Given the description of an element on the screen output the (x, y) to click on. 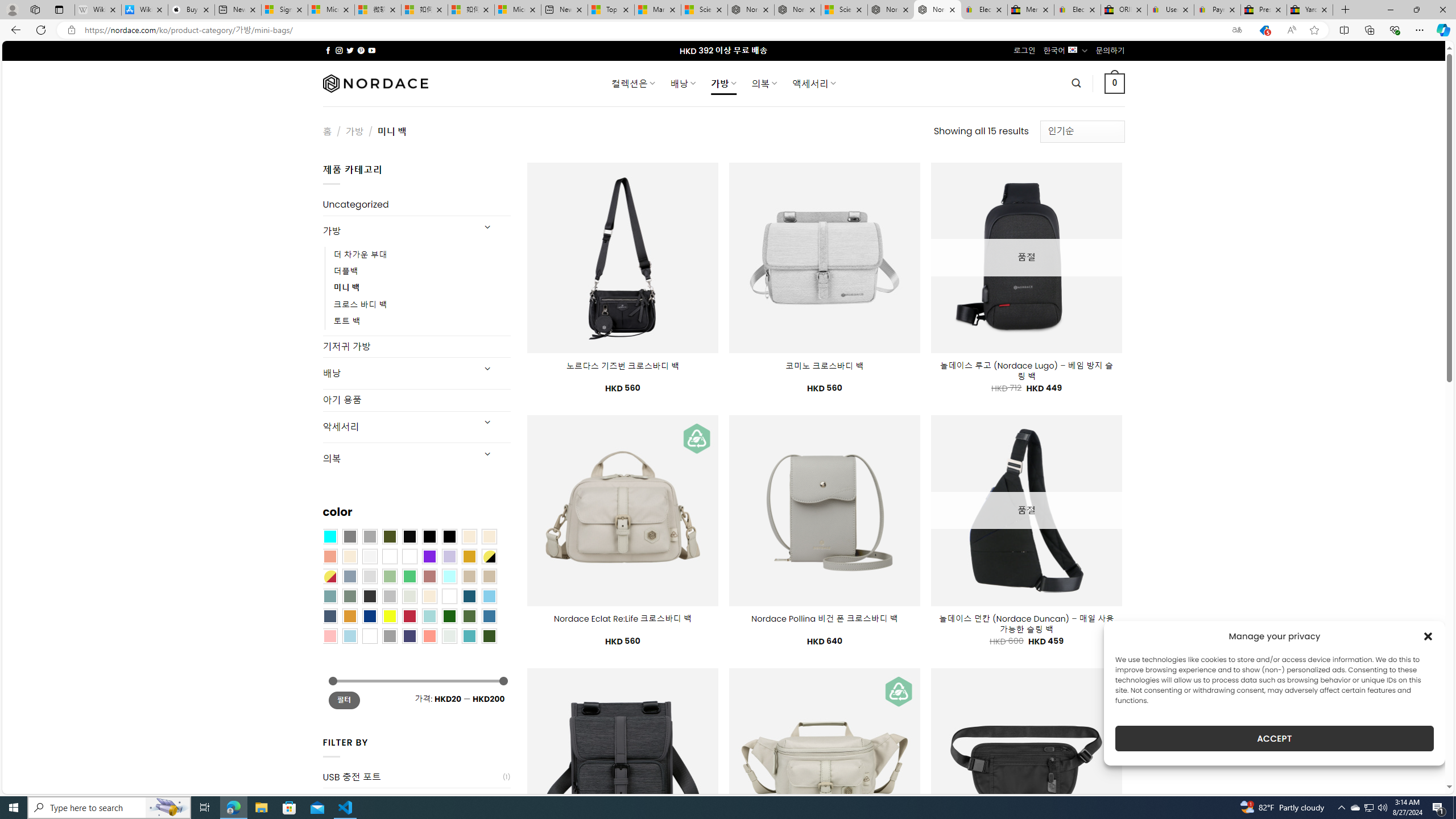
Show translate options (1236, 29)
Microsoft account | Account Checkup (517, 9)
Wikipedia - Sleeping (97, 9)
  0   (1115, 83)
